Given the description of an element on the screen output the (x, y) to click on. 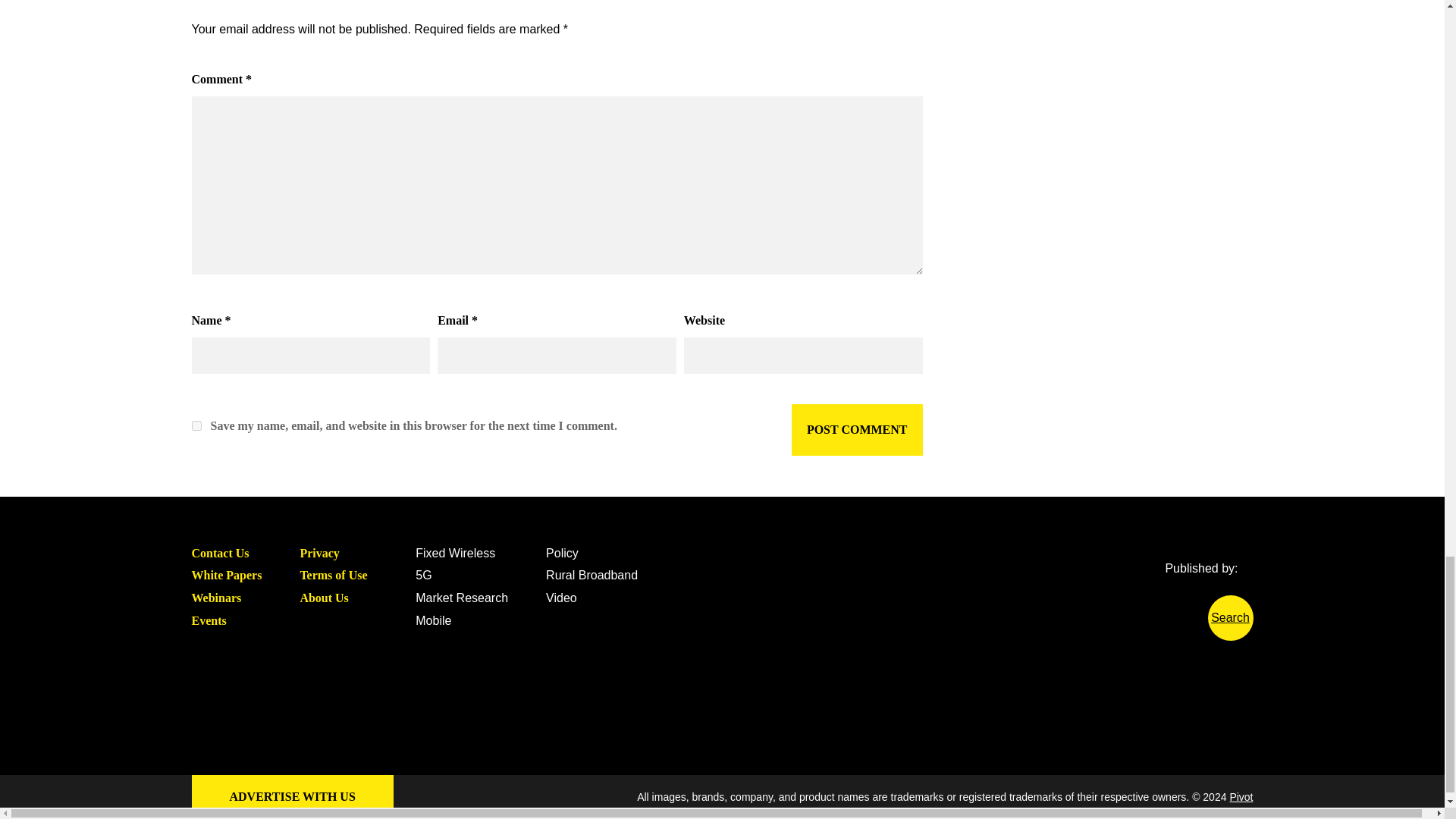
yes (195, 425)
Post Comment (857, 429)
